Given the description of an element on the screen output the (x, y) to click on. 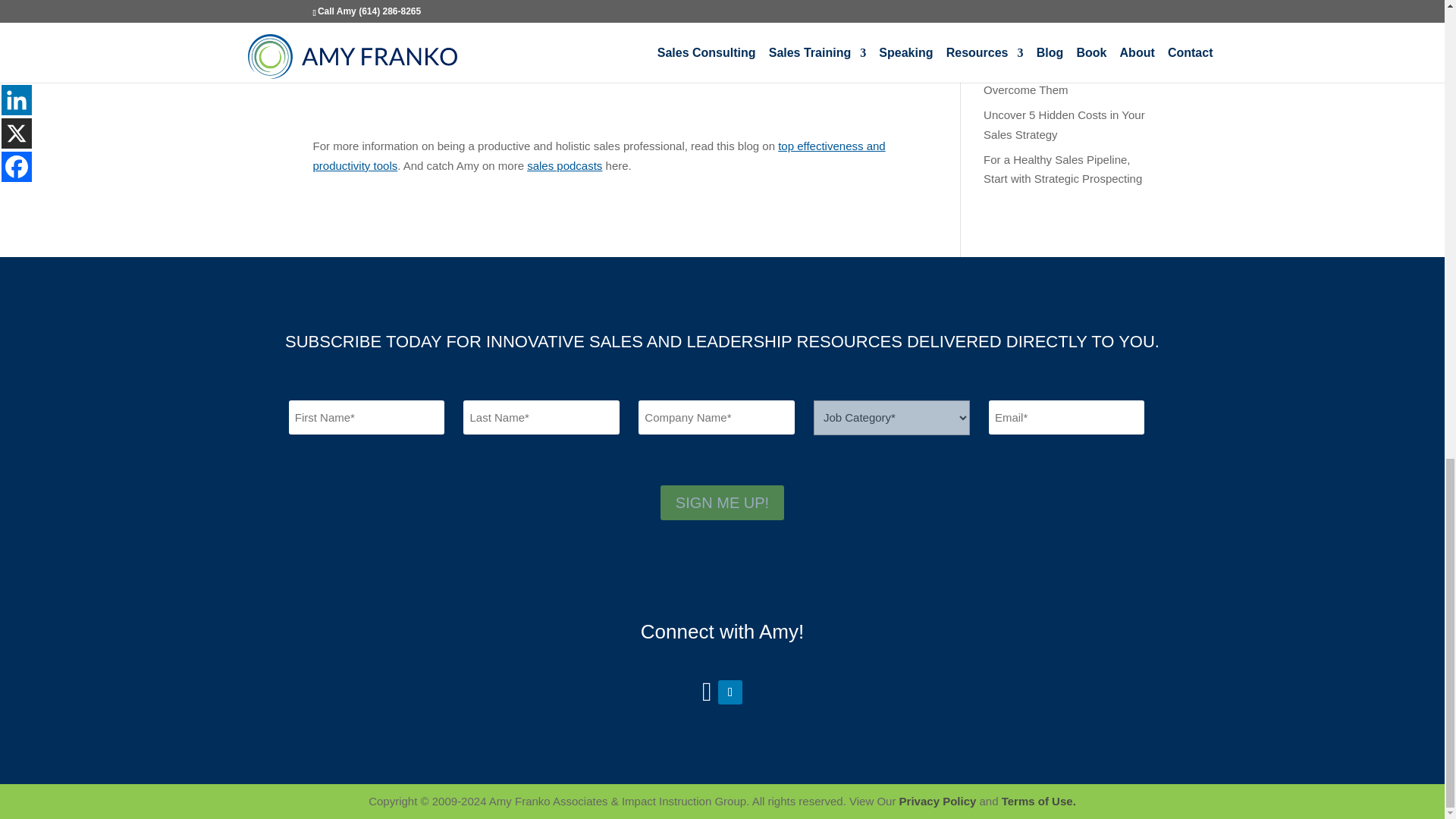
top effectiveness and productivity tools (599, 155)
YouTube video player (524, 59)
Sign Me Up! (722, 502)
Follow on LinkedIn (729, 692)
sales podcasts (564, 164)
